Given the description of an element on the screen output the (x, y) to click on. 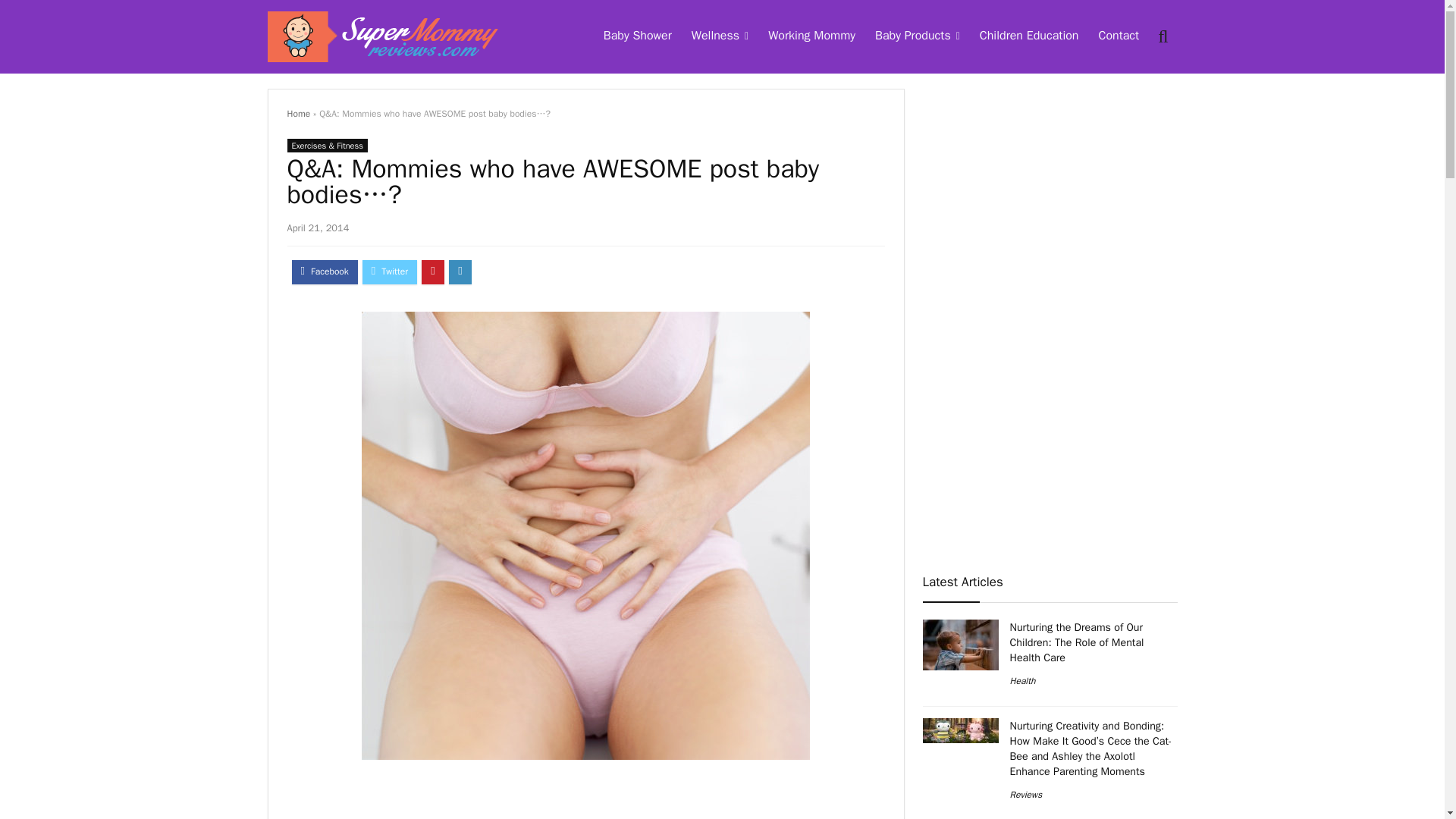
Advertisement (585, 798)
Baby Products (916, 36)
Contact (1117, 36)
Baby Shower (637, 36)
Children Education (1029, 36)
Working Mommy (811, 36)
Wellness (719, 36)
Home (298, 113)
